Given the description of an element on the screen output the (x, y) to click on. 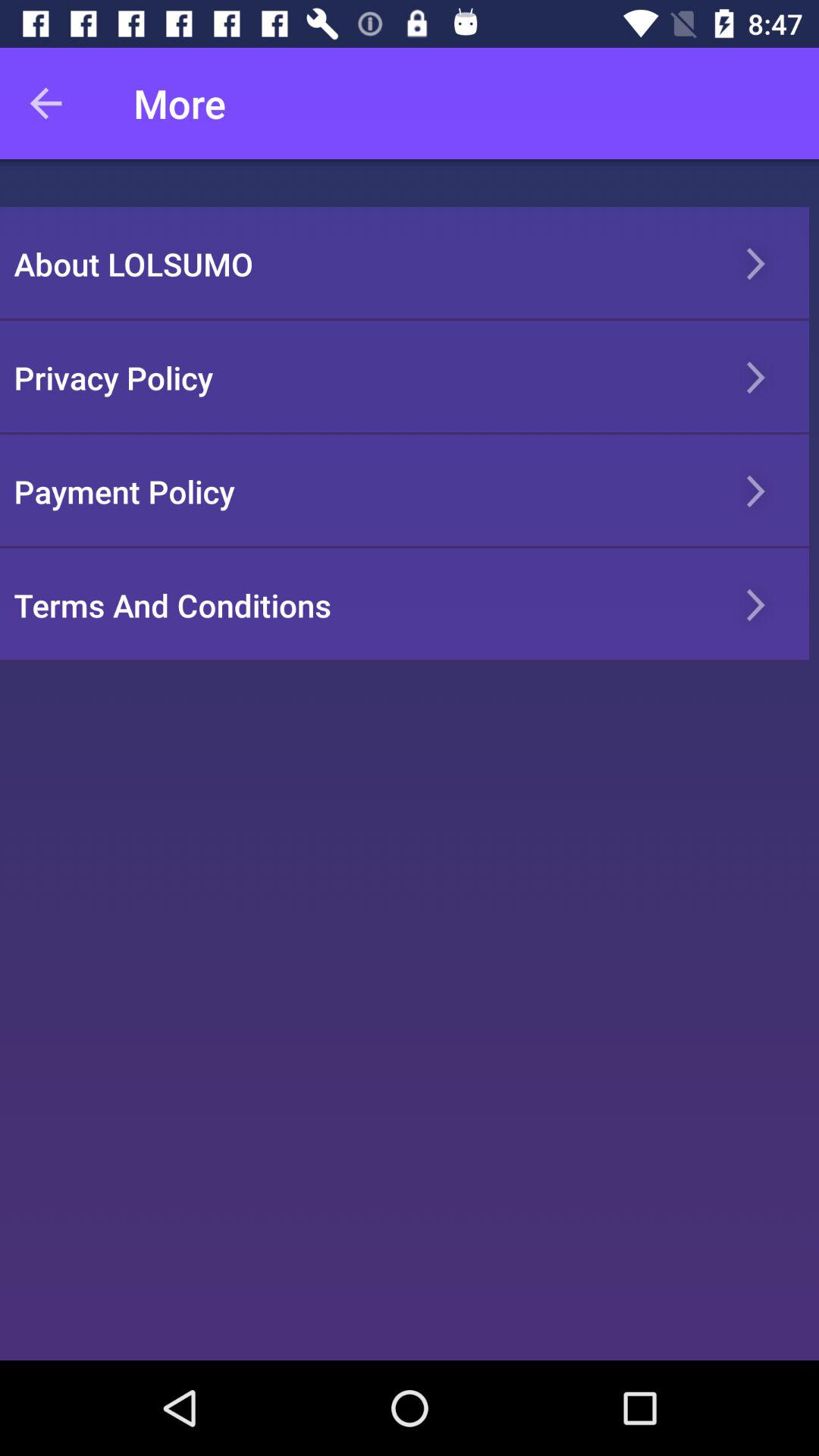
tap item next to more icon (55, 103)
